Given the description of an element on the screen output the (x, y) to click on. 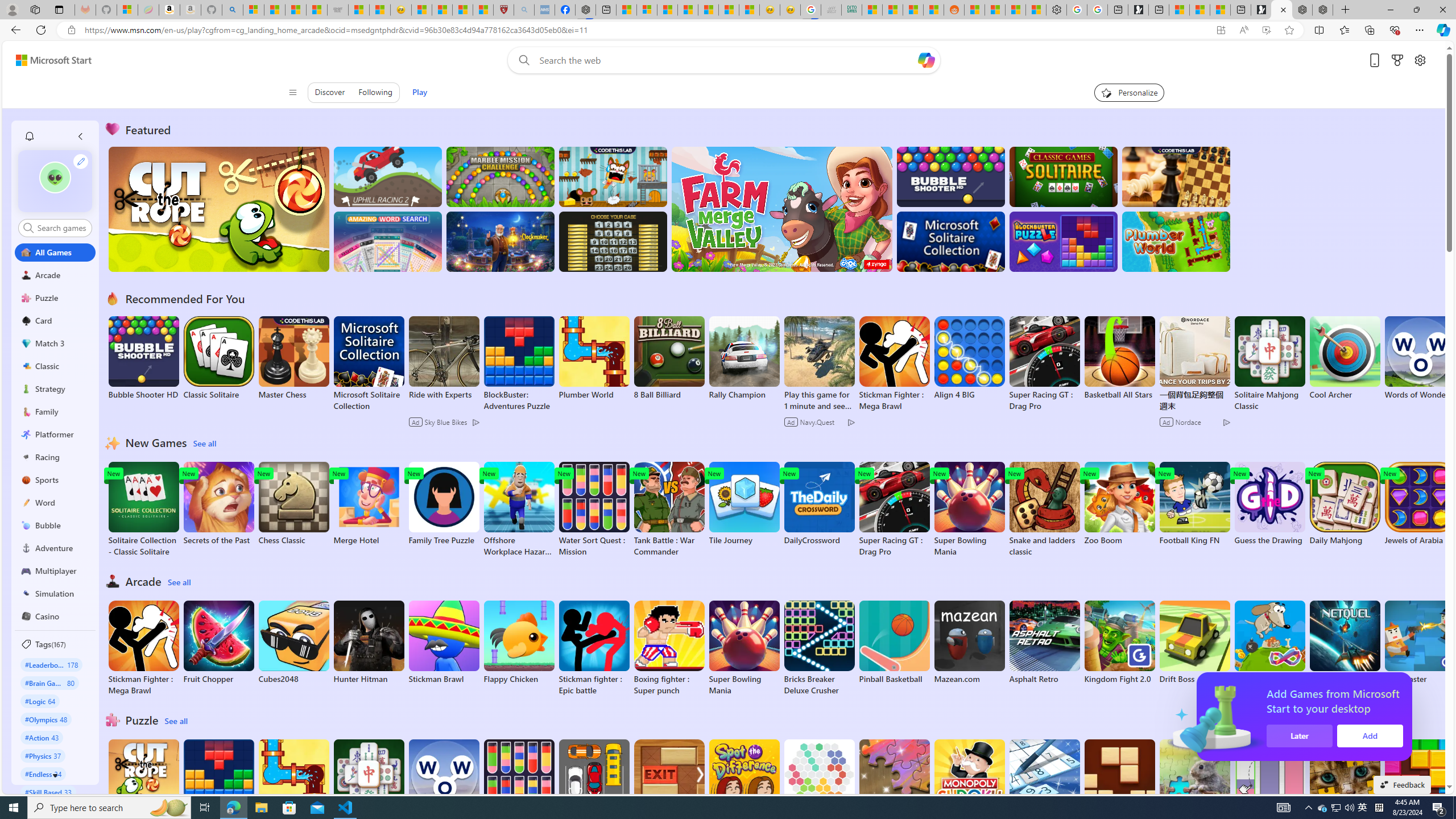
Enhance video (1266, 29)
Up Hill Racing 2 (387, 176)
#Brain Games 80 (49, 682)
App available. Install Games from Microsoft Start (1220, 29)
12 Popular Science Lies that Must be Corrected (482, 9)
Following (374, 92)
Super Racing GT : Drag Pro (894, 509)
Stickman Brawl (443, 642)
Guess the Drawing (1269, 503)
Fitness - MSN (708, 9)
